Given the description of an element on the screen output the (x, y) to click on. 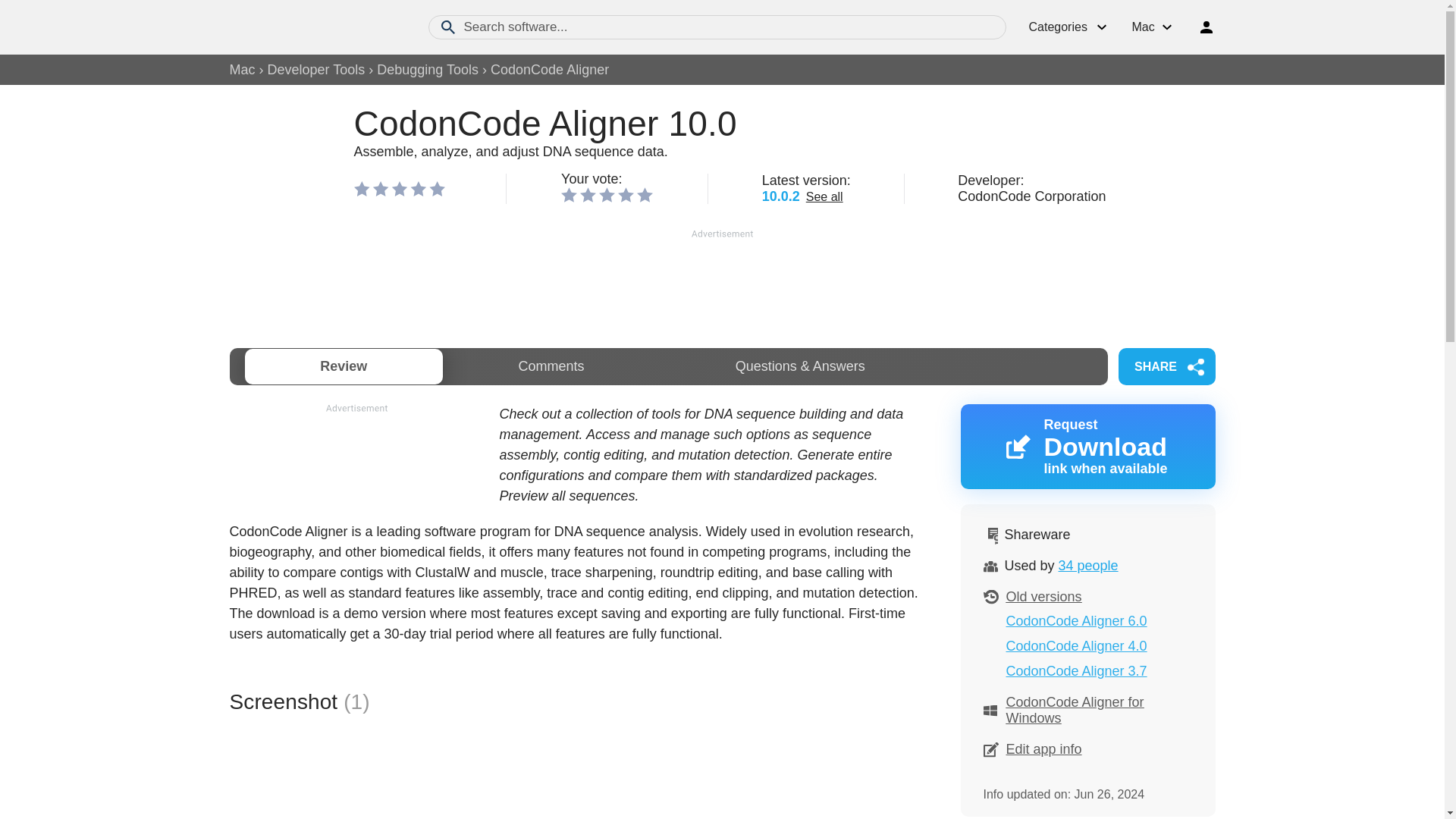
34 people (1088, 565)
3 (1086, 446)
SHARE (605, 193)
2 (1166, 366)
Search software... (587, 193)
1 (717, 27)
4 (568, 193)
Comments (624, 193)
Software downloads and reviews (550, 366)
Request download link when available (312, 26)
Comments (1086, 446)
CodonCode Aligner 3.7 (550, 366)
Search (1076, 670)
